Given the description of an element on the screen output the (x, y) to click on. 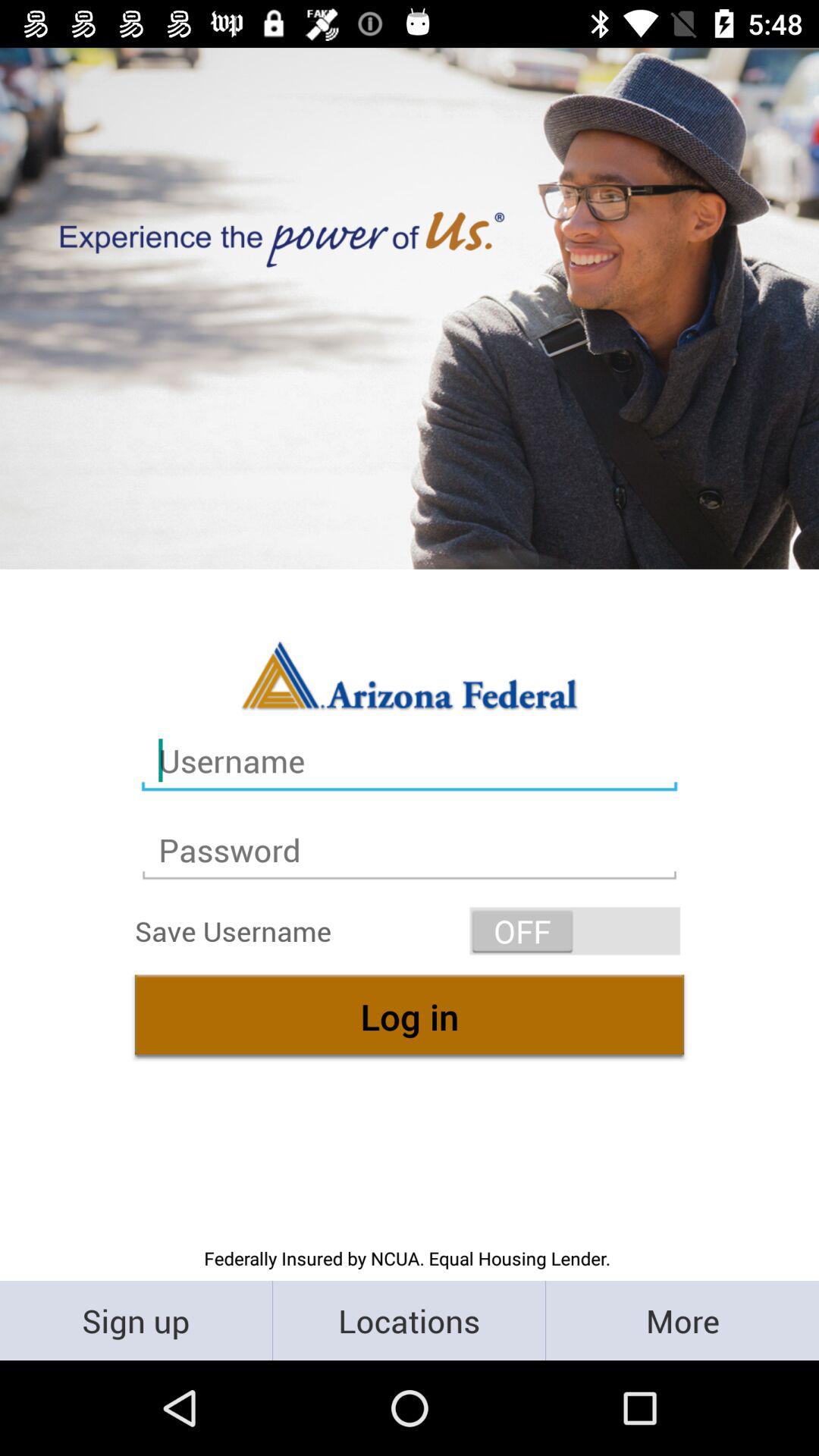
launch sign up icon (136, 1320)
